Given the description of an element on the screen output the (x, y) to click on. 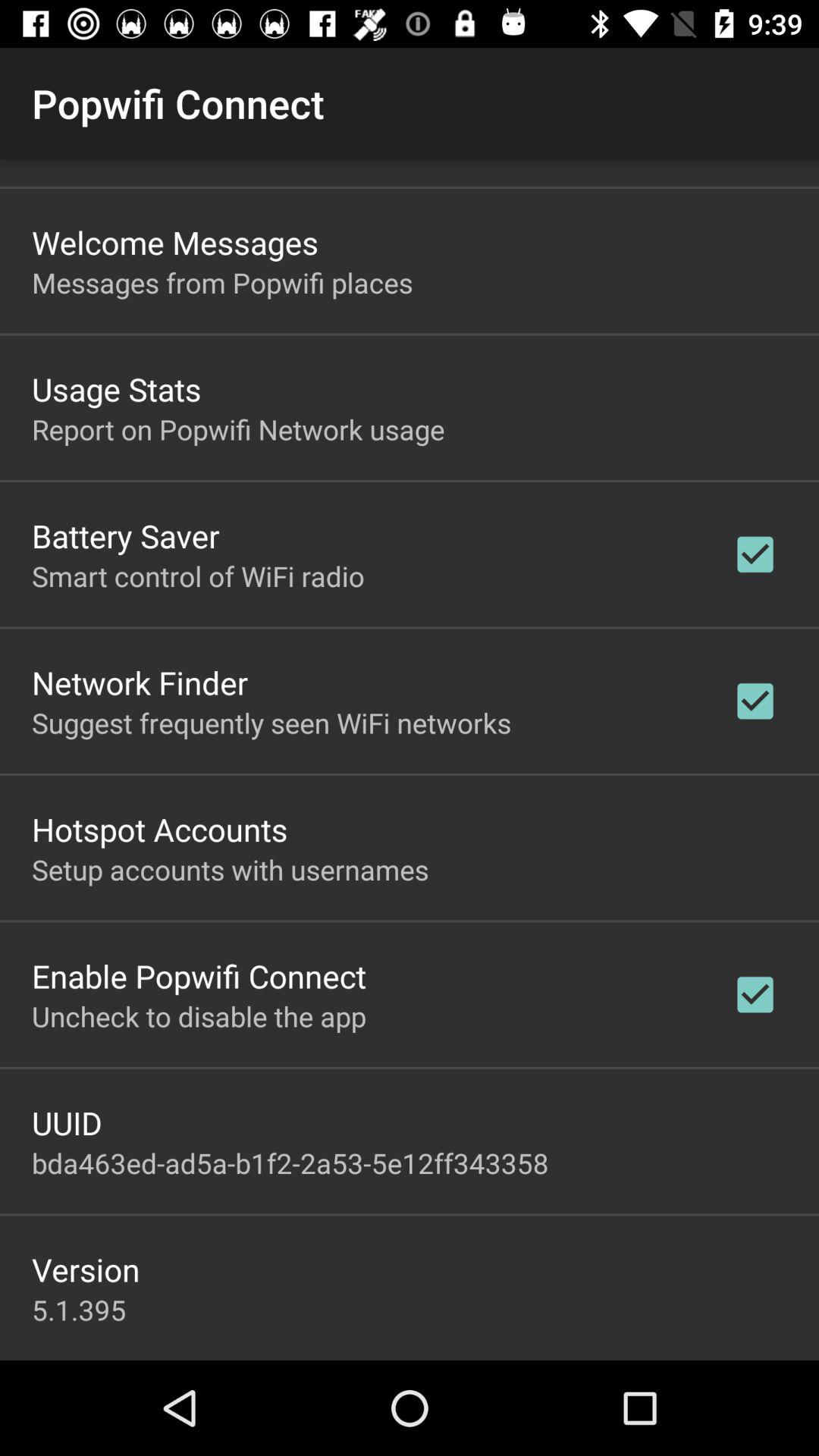
select the app above bda463ed ad5a b1f2 (66, 1122)
